Given the description of an element on the screen output the (x, y) to click on. 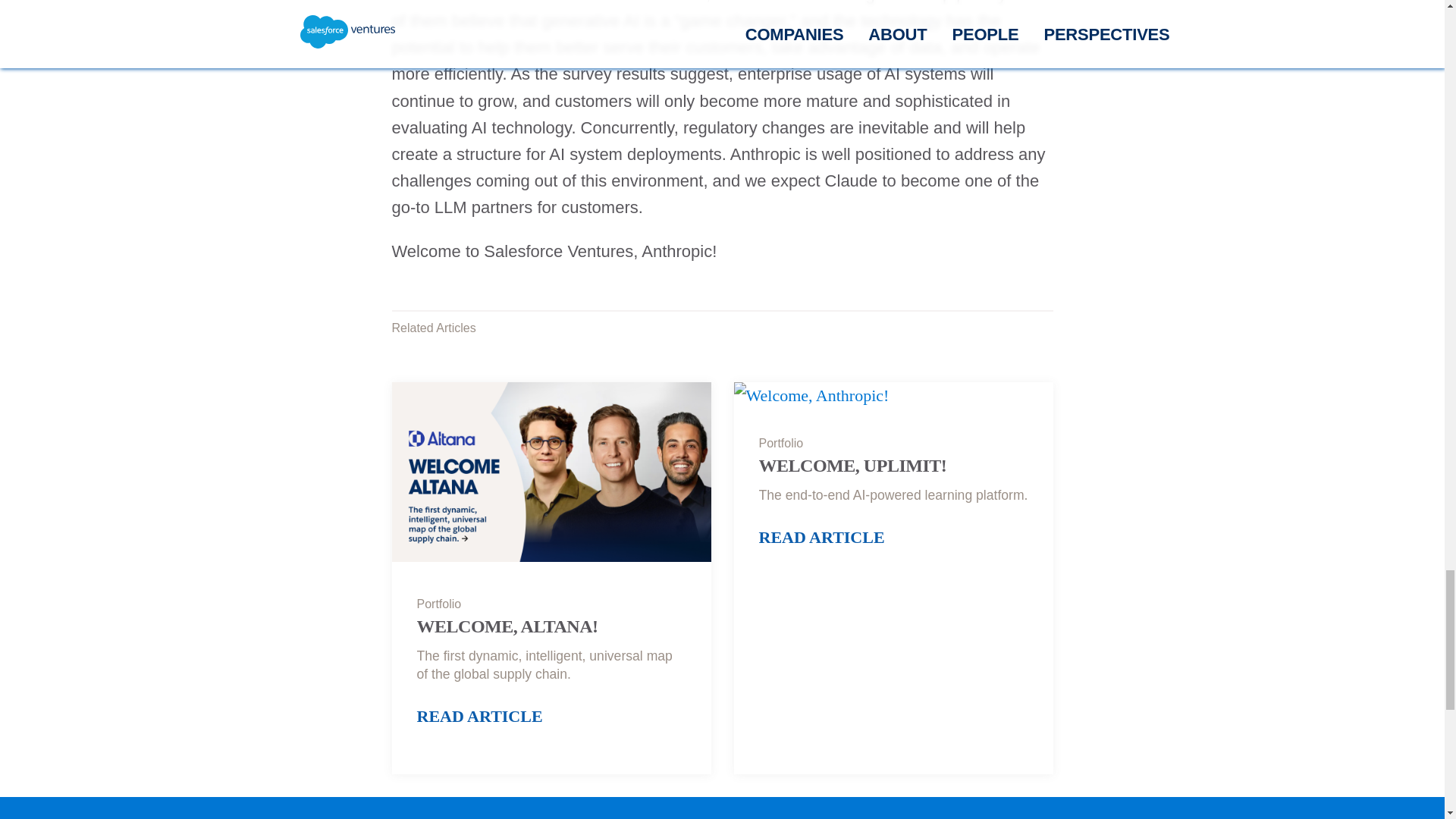
READ ARTICLE (479, 720)
Welcome, Uplimit! (811, 395)
READ ARTICLE (820, 541)
Welcome, Altana! (550, 475)
